Given the description of an element on the screen output the (x, y) to click on. 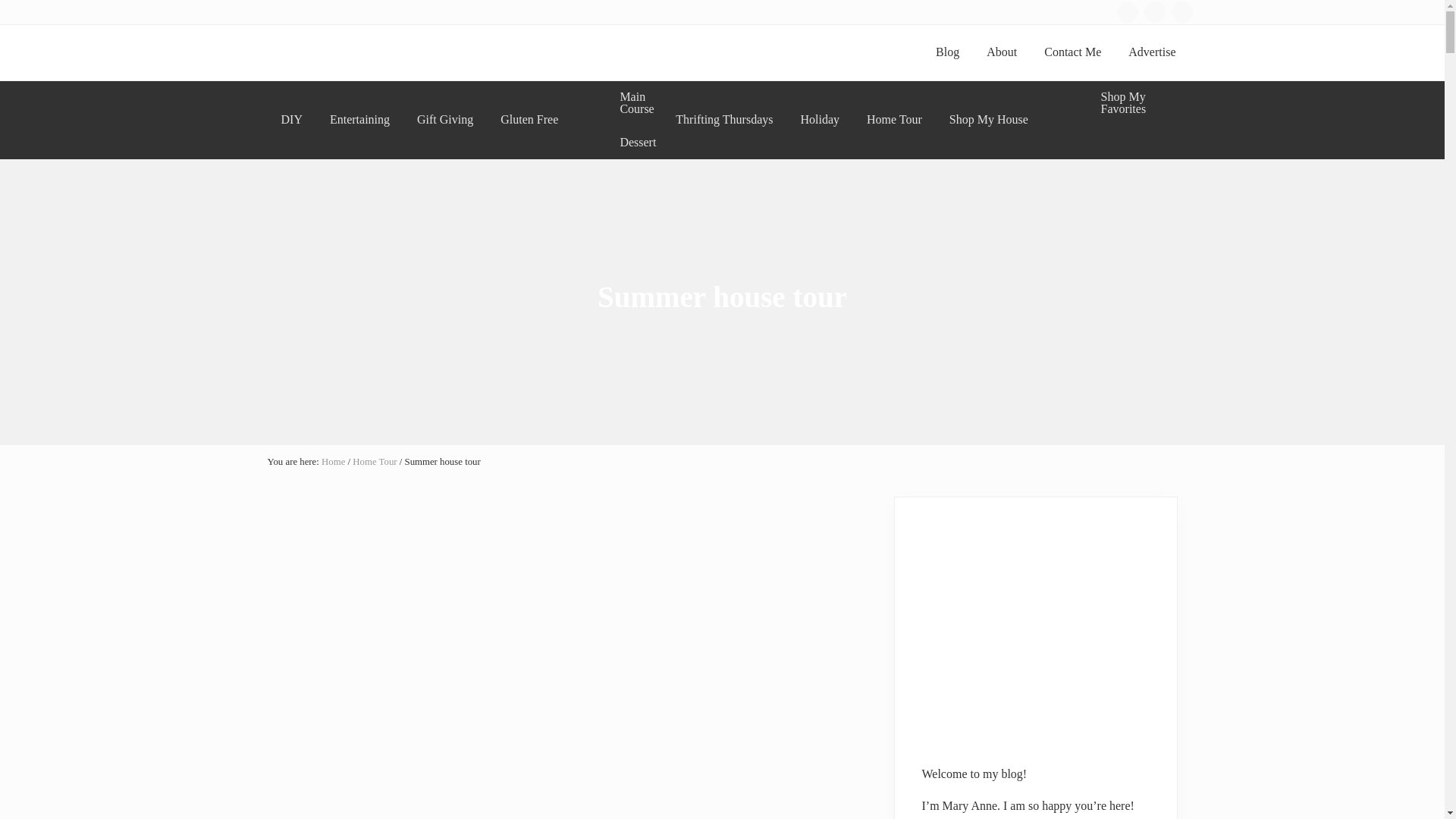
Advertise (1152, 52)
About (1001, 52)
Pinterest (1181, 11)
Instagram (1153, 11)
Instagram (1154, 11)
Facebook (1126, 11)
Pinterest (1181, 11)
Blog (947, 52)
Contact Me (1072, 52)
Facebook (1126, 11)
